Given the description of an element on the screen output the (x, y) to click on. 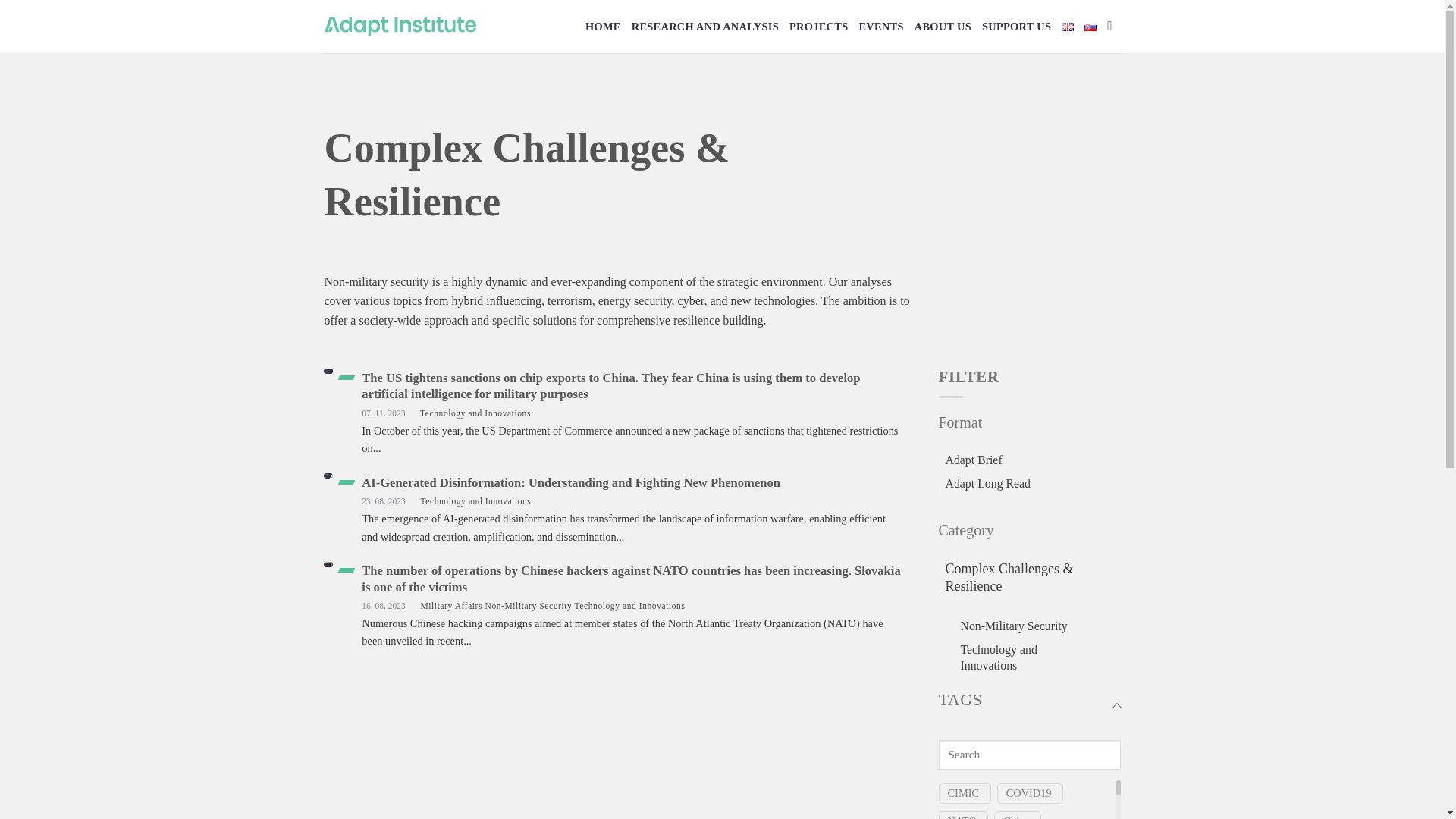
Adapt Long Read (987, 483)
Adapt Institute - Designing a secure future (400, 25)
RESEARCH AND ANALYSIS (704, 26)
TAGS (1030, 707)
NATO (961, 816)
Technology and Innovations (1027, 657)
CIMIC (963, 793)
EVENTS (880, 26)
COVID19 (1028, 793)
Non-Military Security (1013, 626)
SUPPORT US (1016, 26)
PROJECTS (818, 26)
ABOUT US (942, 26)
